Given the description of an element on the screen output the (x, y) to click on. 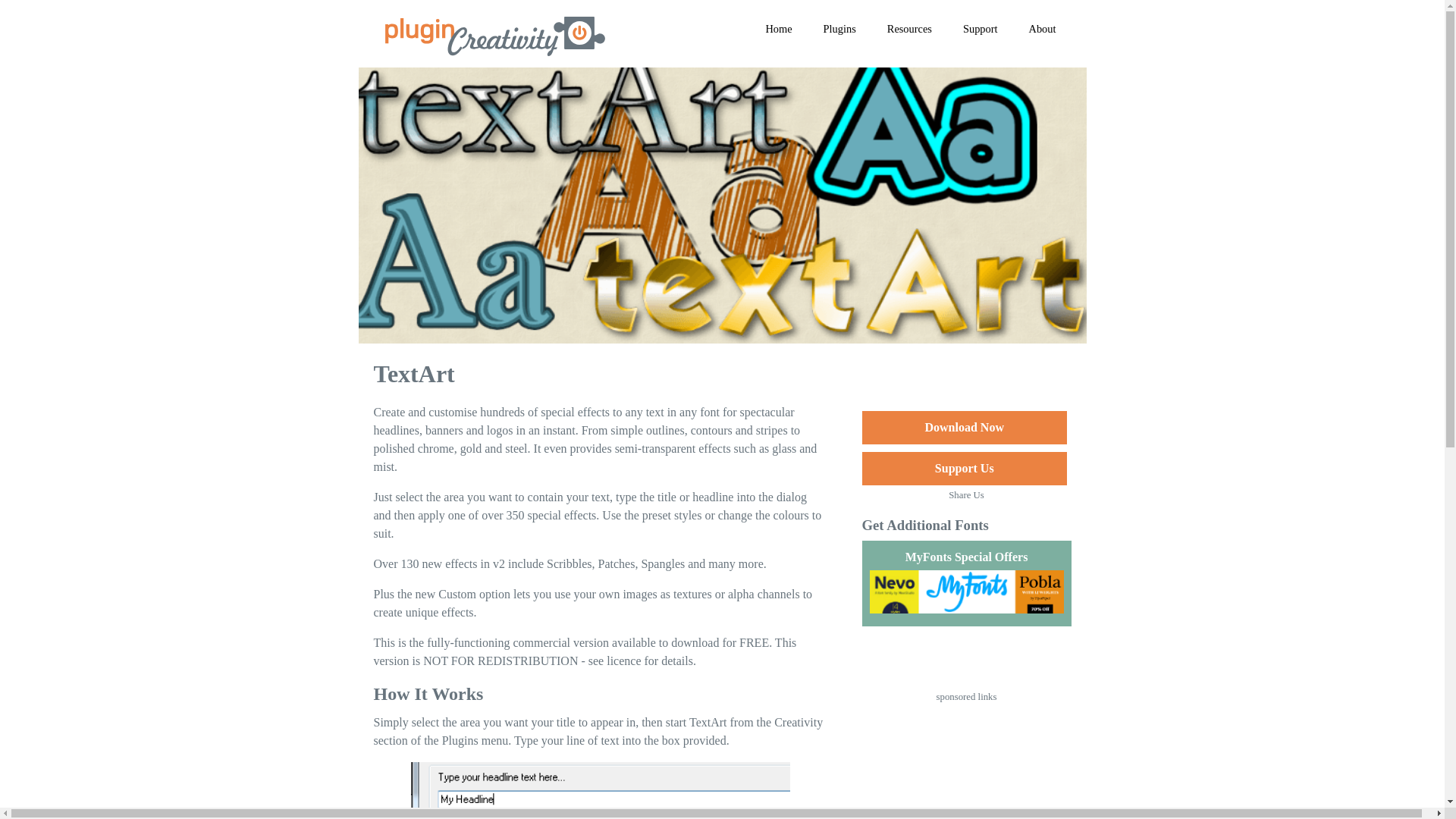
About (1042, 28)
textArt plugin screenshot 1 (600, 790)
MyFonts Special Offers (965, 583)
Support (980, 28)
Support Us (963, 468)
Download Now (963, 427)
Plugins (839, 28)
Resources (909, 28)
Advertisement (966, 764)
Home (777, 28)
